Given the description of an element on the screen output the (x, y) to click on. 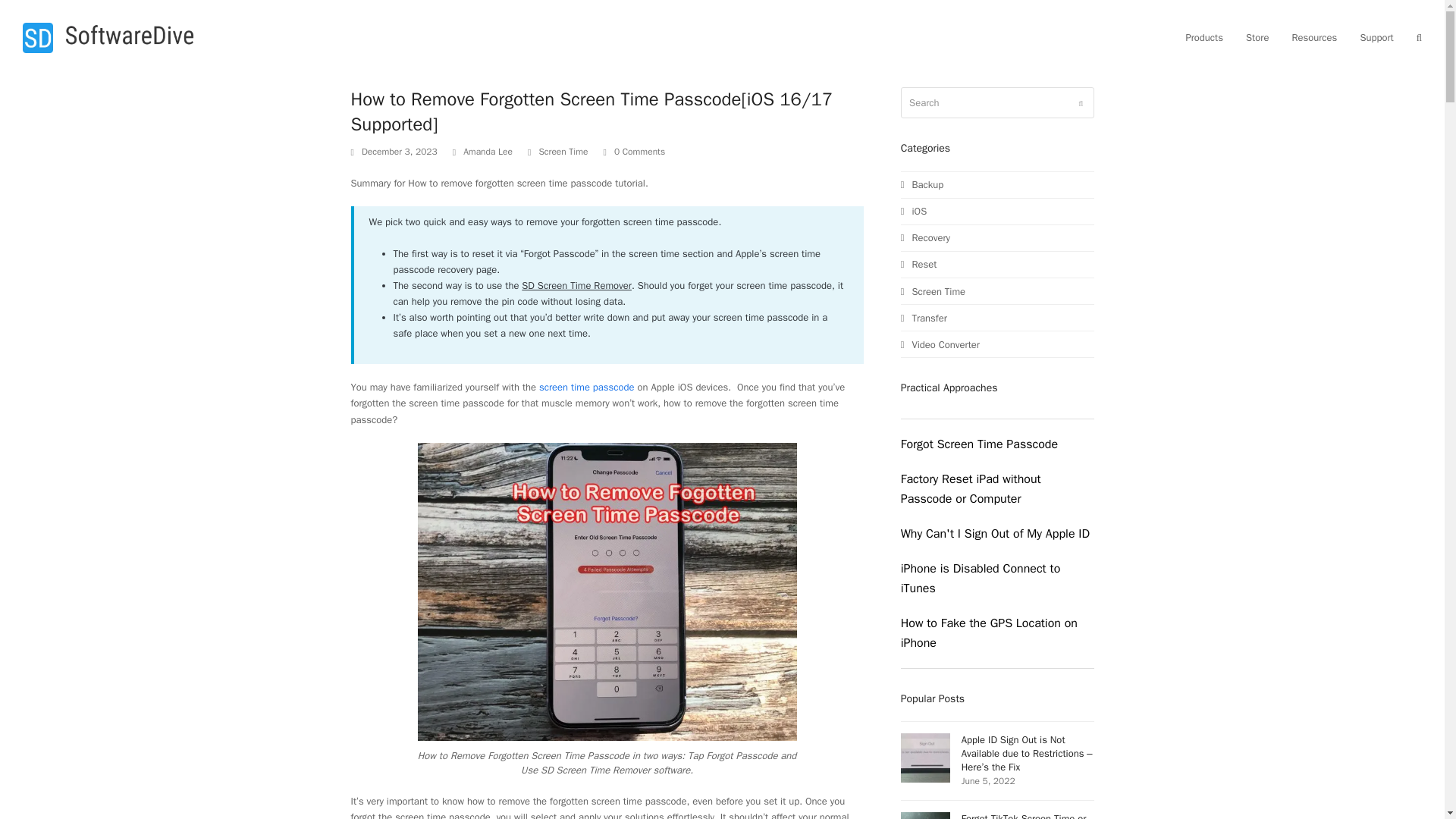
Resources (1313, 38)
SD Screen Time Remover (576, 285)
0 Comments (634, 151)
screen time passcode (586, 386)
0 Comments (639, 151)
Screen Time (563, 151)
